Given the description of an element on the screen output the (x, y) to click on. 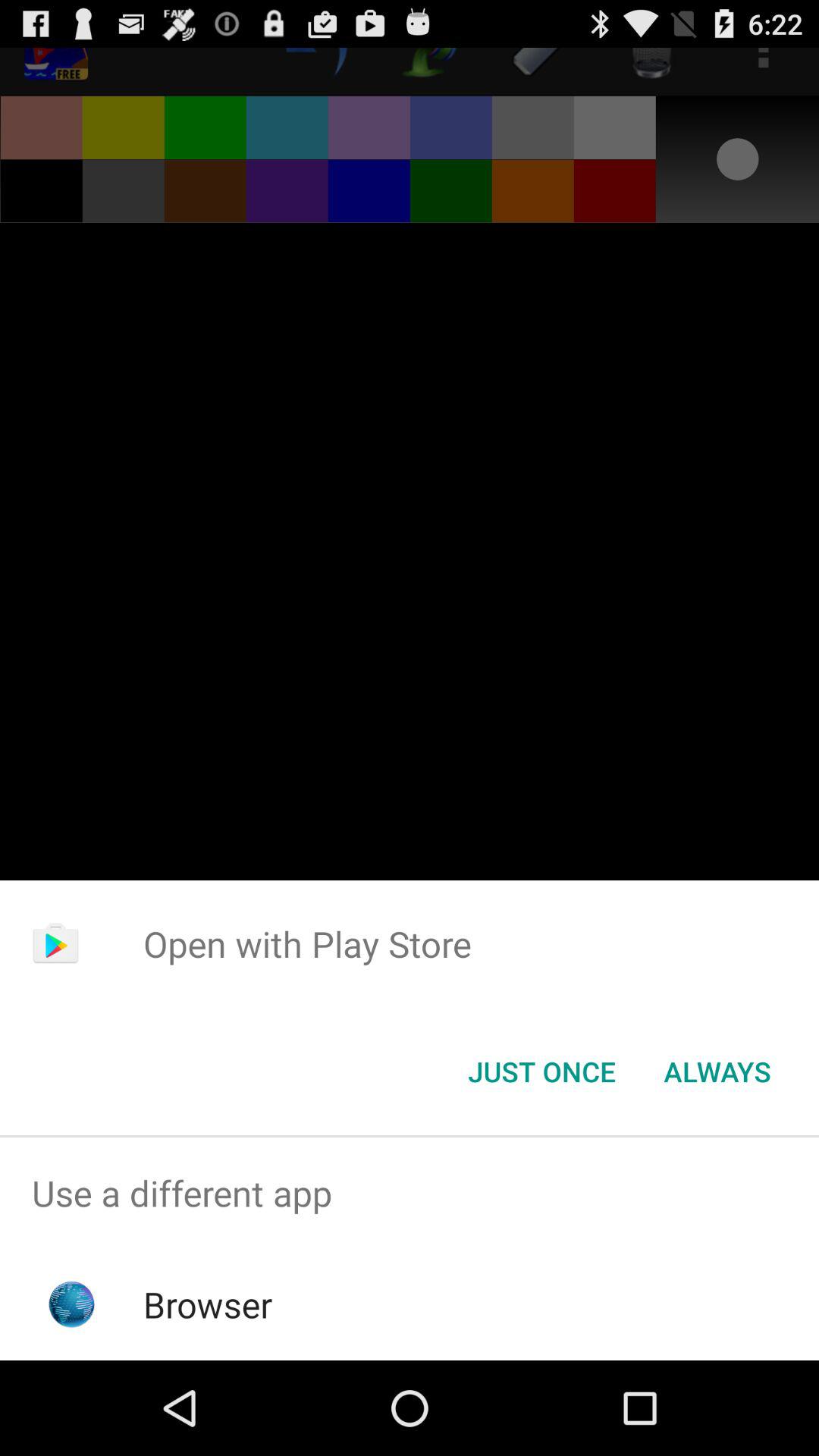
turn off use a different icon (409, 1192)
